Given the description of an element on the screen output the (x, y) to click on. 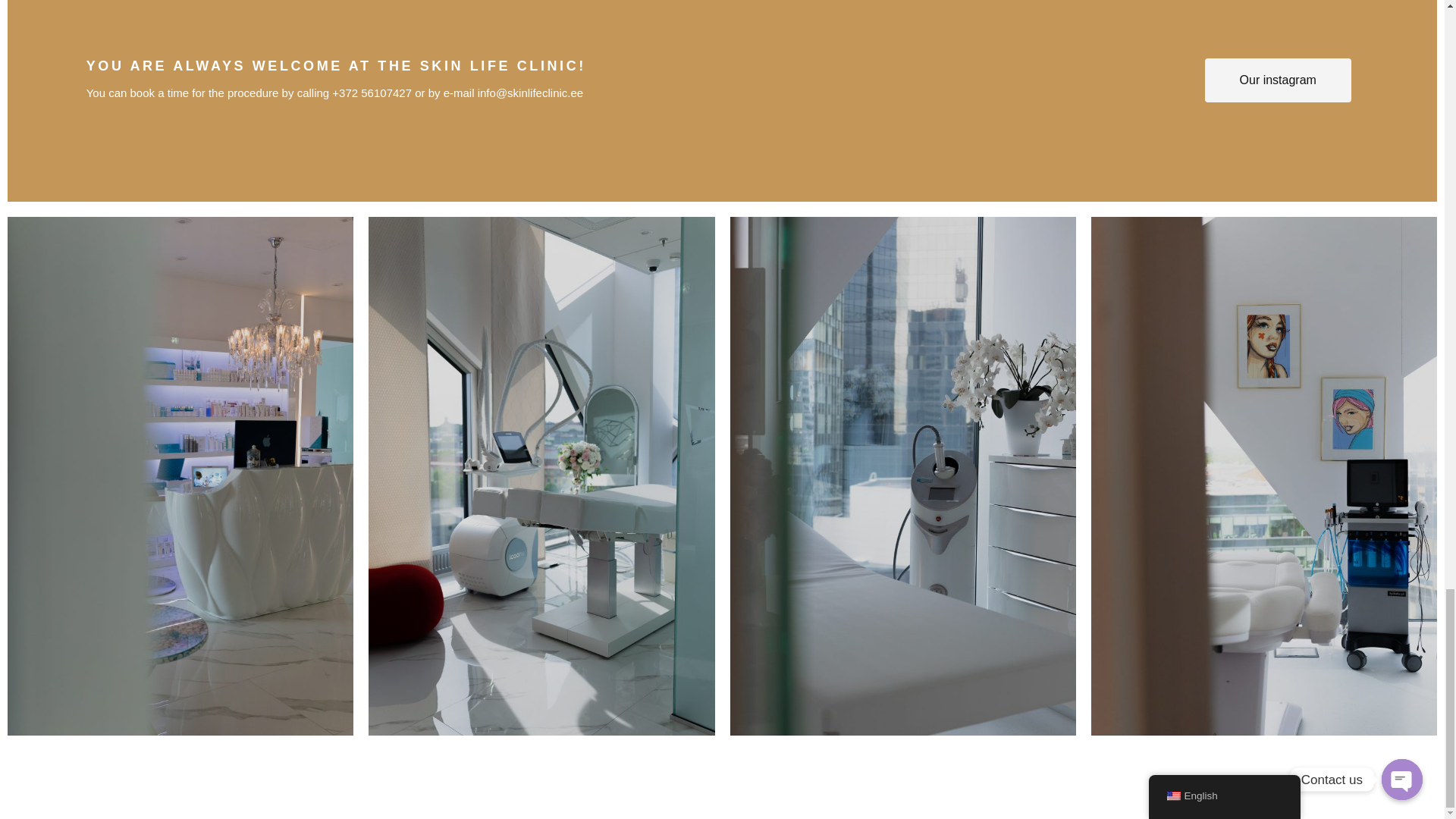
Our instagram (1278, 80)
